Given the description of an element on the screen output the (x, y) to click on. 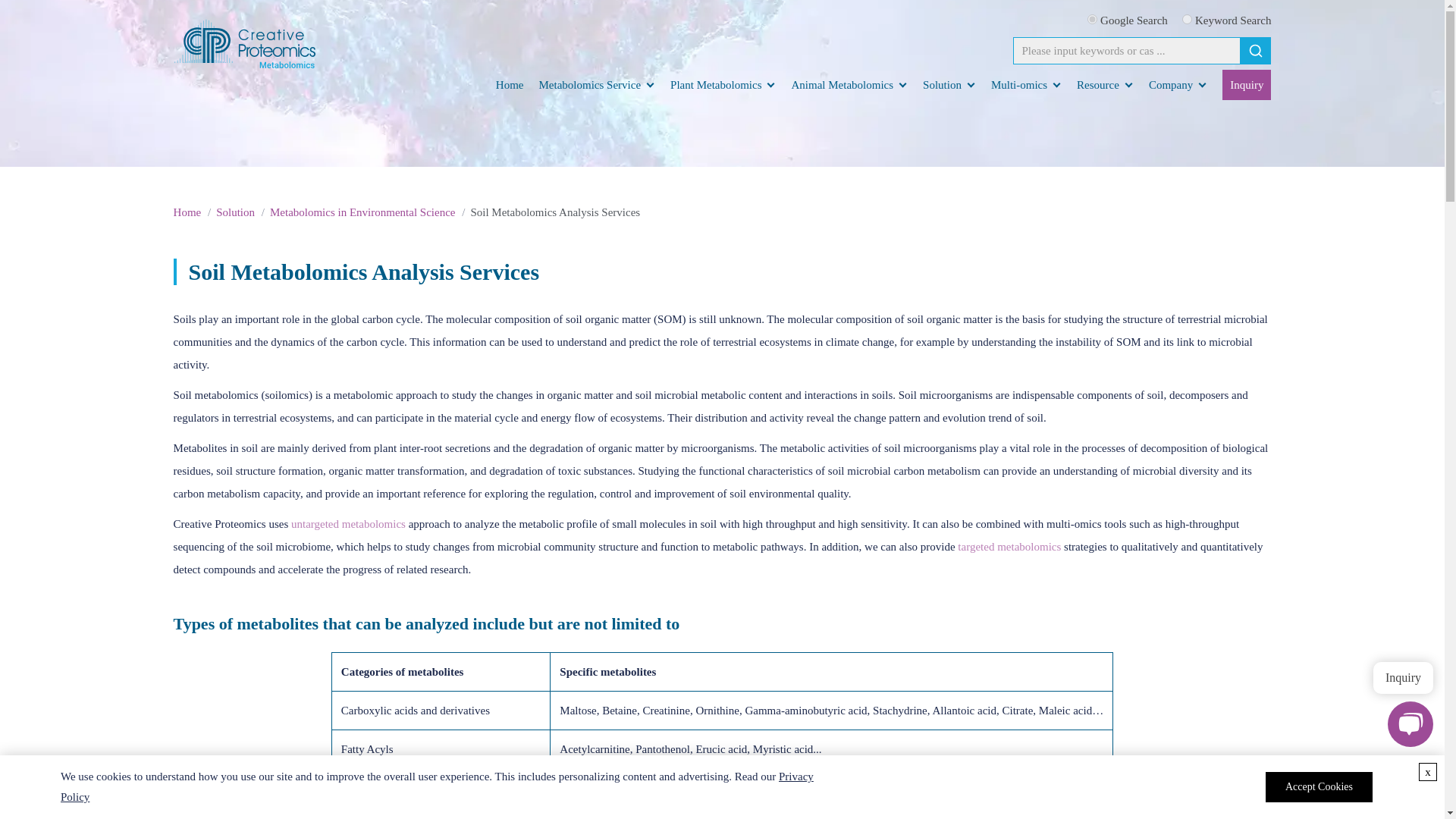
Home (510, 84)
0 (1187, 19)
Search (1255, 50)
Metabolomics Service (590, 84)
2 (1092, 19)
